Given the description of an element on the screen output the (x, y) to click on. 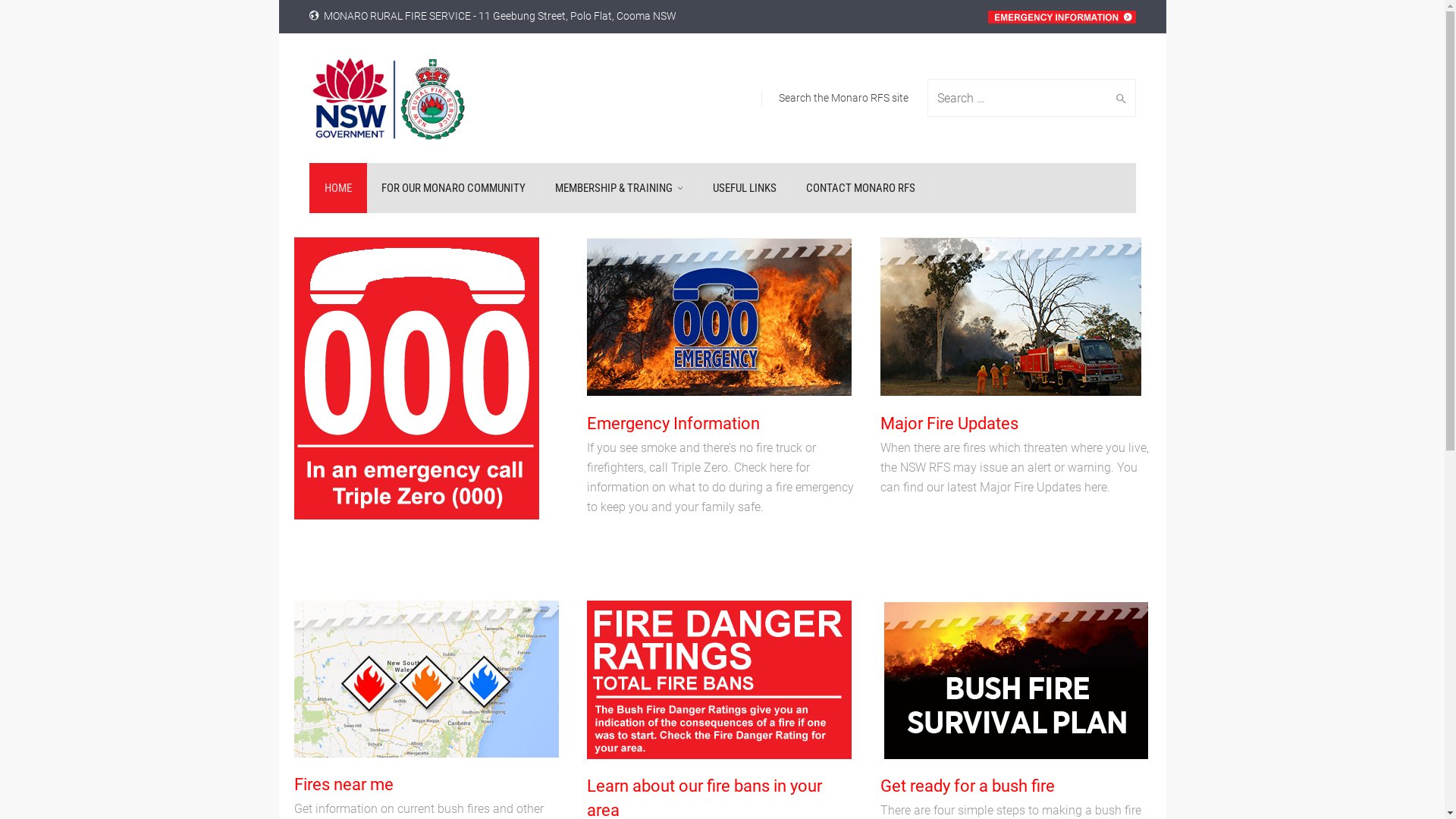
Fires Near Me Element type: hover (426, 678)
Fires near me Element type: text (343, 784)
FOR OUR MONARO COMMUNITY Element type: text (452, 188)
Twitter Element type: text (1118, 798)
Search Element type: text (1117, 97)
Major Fire Updates Element type: text (949, 423)
BFSP_contentbox Element type: hover (1015, 679)
HOME Element type: text (338, 188)
Fire-Danger-Box Element type: hover (718, 679)
Updates Element type: hover (1010, 316)
Emergency Information Element type: text (672, 423)
000 Element type: hover (416, 378)
USEFUL LINKS Element type: text (744, 188)
MEMBERSHIP & TRAINING Element type: text (618, 188)
Facebook Element type: text (1049, 798)
Emergency_contentbox Element type: hover (718, 316)
CONTACT MONARO RFS Element type: text (859, 188)
Get ready for a bush fire Element type: text (967, 785)
